Given the description of an element on the screen output the (x, y) to click on. 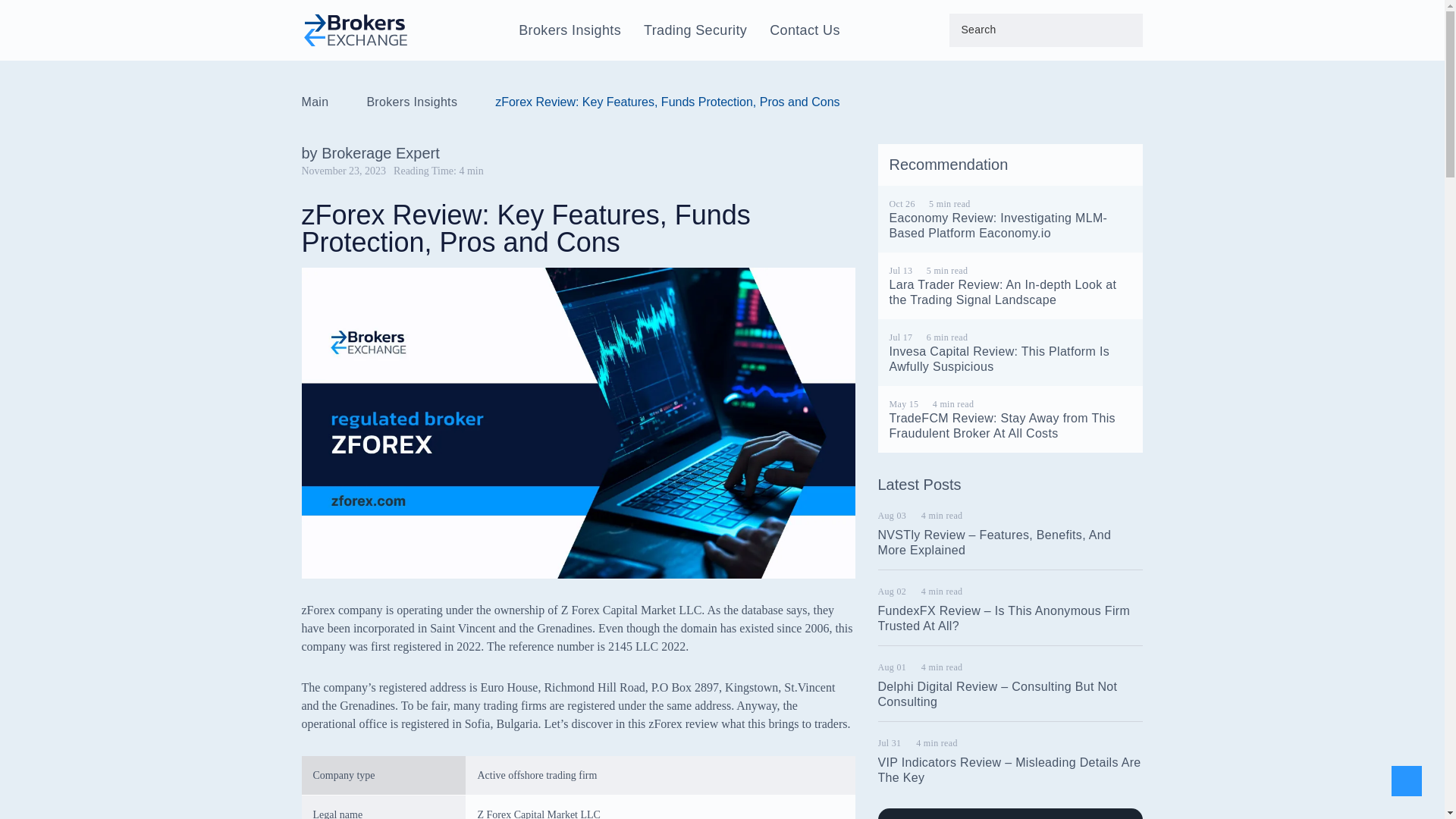
Brokers Insights (411, 101)
Brokers Insights (569, 29)
Contact Us (805, 29)
Main (315, 101)
Trading Security (694, 29)
Search (32, 12)
